Given the description of an element on the screen output the (x, y) to click on. 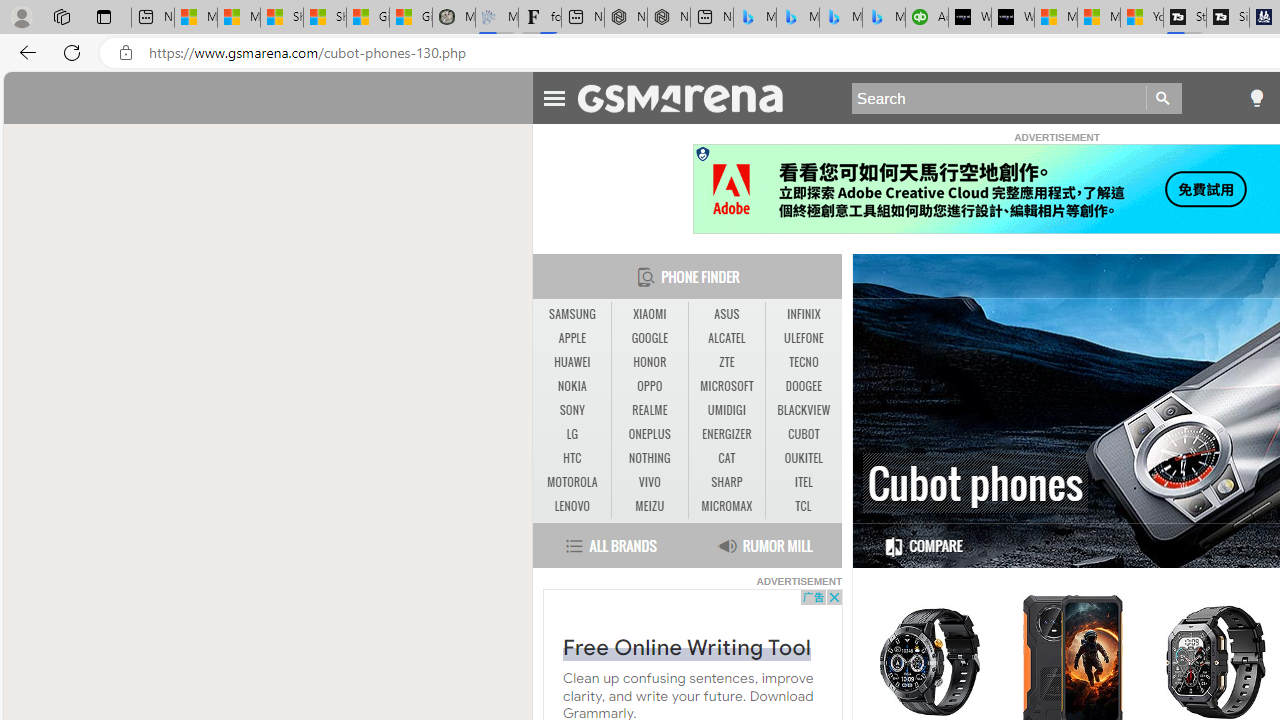
SONY (571, 410)
SONY (571, 411)
TCL (803, 506)
Privacy Notification (702, 154)
SHARP (726, 482)
OPPO (649, 385)
MICROSOFT (726, 386)
ASUS (726, 314)
Microsoft Bing Travel - Shangri-La Hotel Bangkok (883, 17)
NOKIA (571, 385)
